Given the description of an element on the screen output the (x, y) to click on. 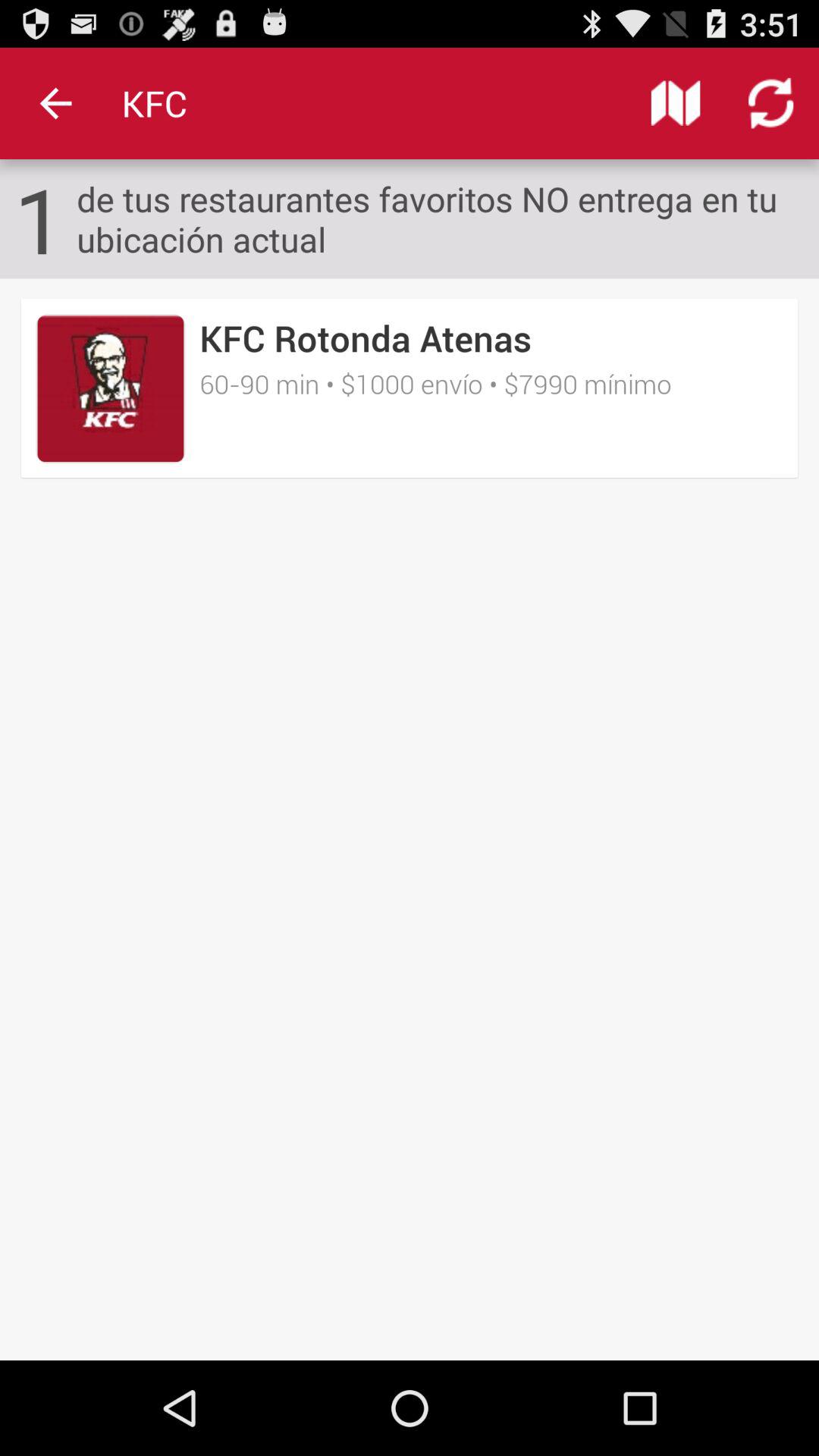
swipe to the de tus restaurantes item (447, 218)
